Given the description of an element on the screen output the (x, y) to click on. 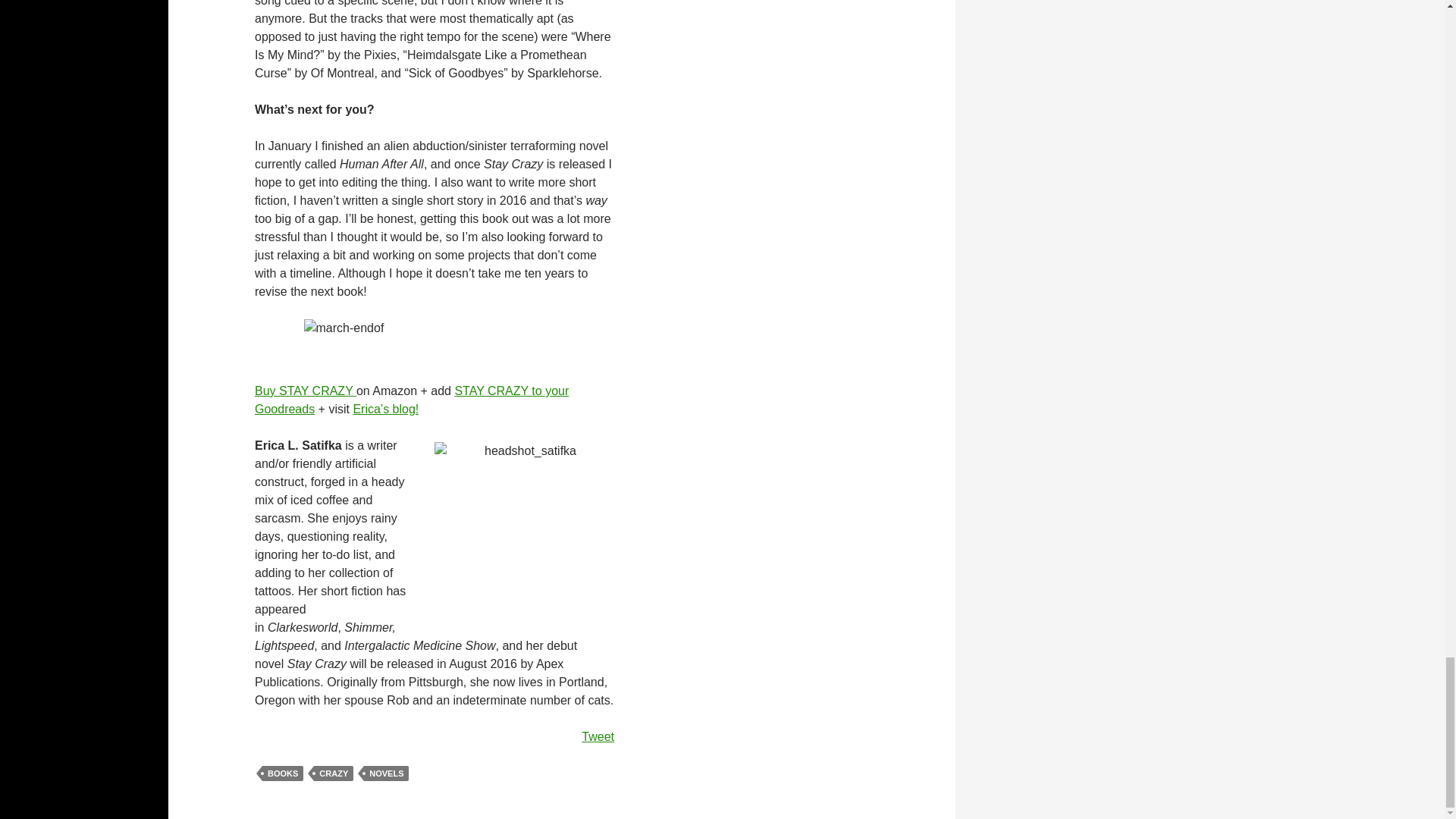
STAY CRAZY to your Goodreads (411, 399)
NOVELS (386, 773)
Tweet (597, 736)
CRAZY (333, 773)
BOOKS (282, 773)
Buy STAY CRAZY (305, 390)
